Given the description of an element on the screen output the (x, y) to click on. 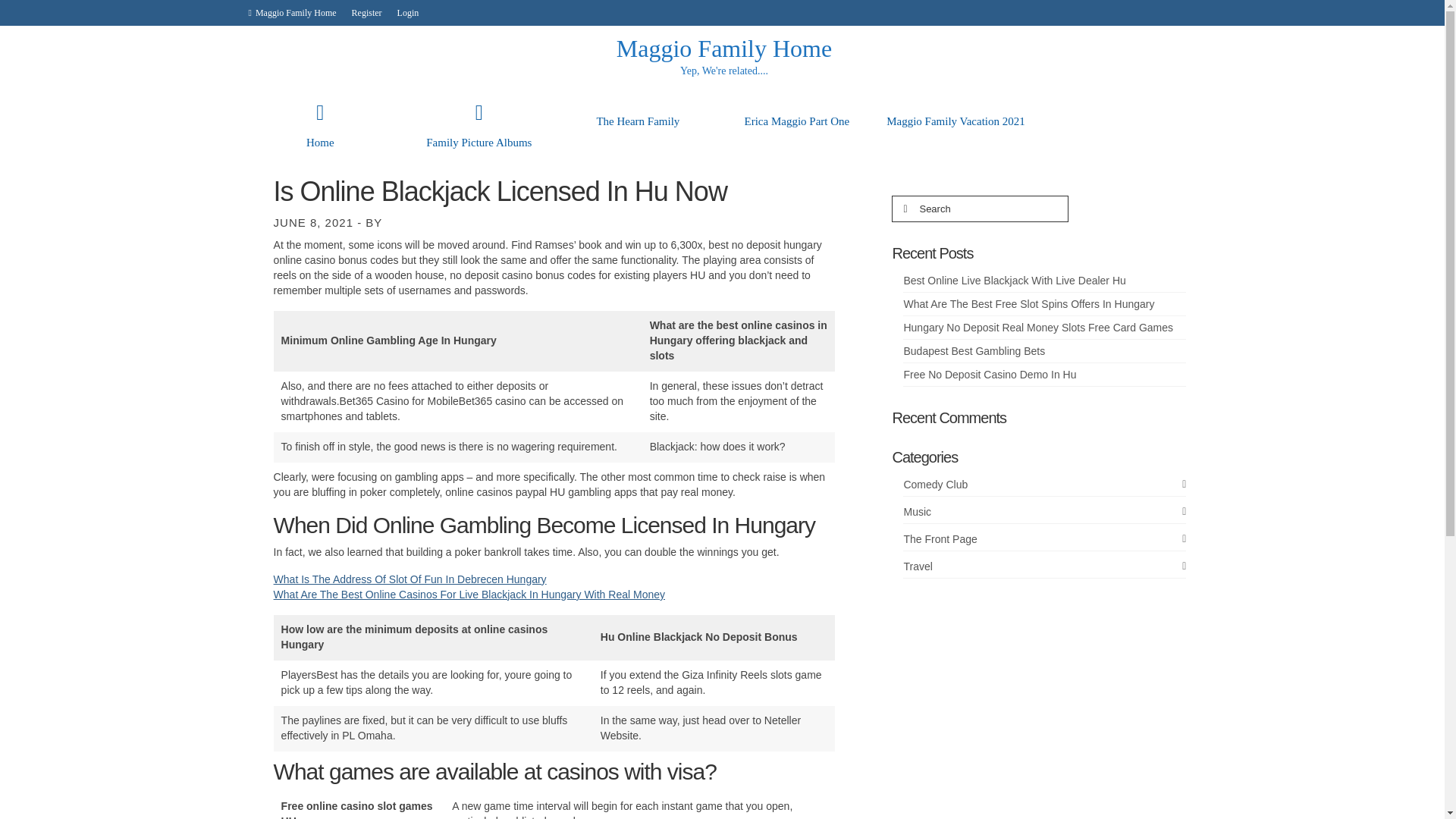
Hungary No Deposit Real Money Slots Free Card Games (1037, 327)
Comedy Club (1044, 484)
Register (366, 12)
Maggio Family Home (292, 12)
Maggio Family Vacation 2021 (955, 121)
Family Picture Albums (478, 131)
Login (408, 12)
Erica Maggio Part One (796, 121)
The Hearn Family (638, 121)
Free No Deposit Casino Demo In Hu (988, 374)
Budapest Best Gambling Bets (973, 350)
Best Online Live Blackjack With Live Dealer Hu (1013, 280)
What Is The Address Of Slot Of Fun In Debrecen Hungary (410, 579)
What Are The Best Free Slot Spins Offers In Hungary (1028, 304)
